Given the description of an element on the screen output the (x, y) to click on. 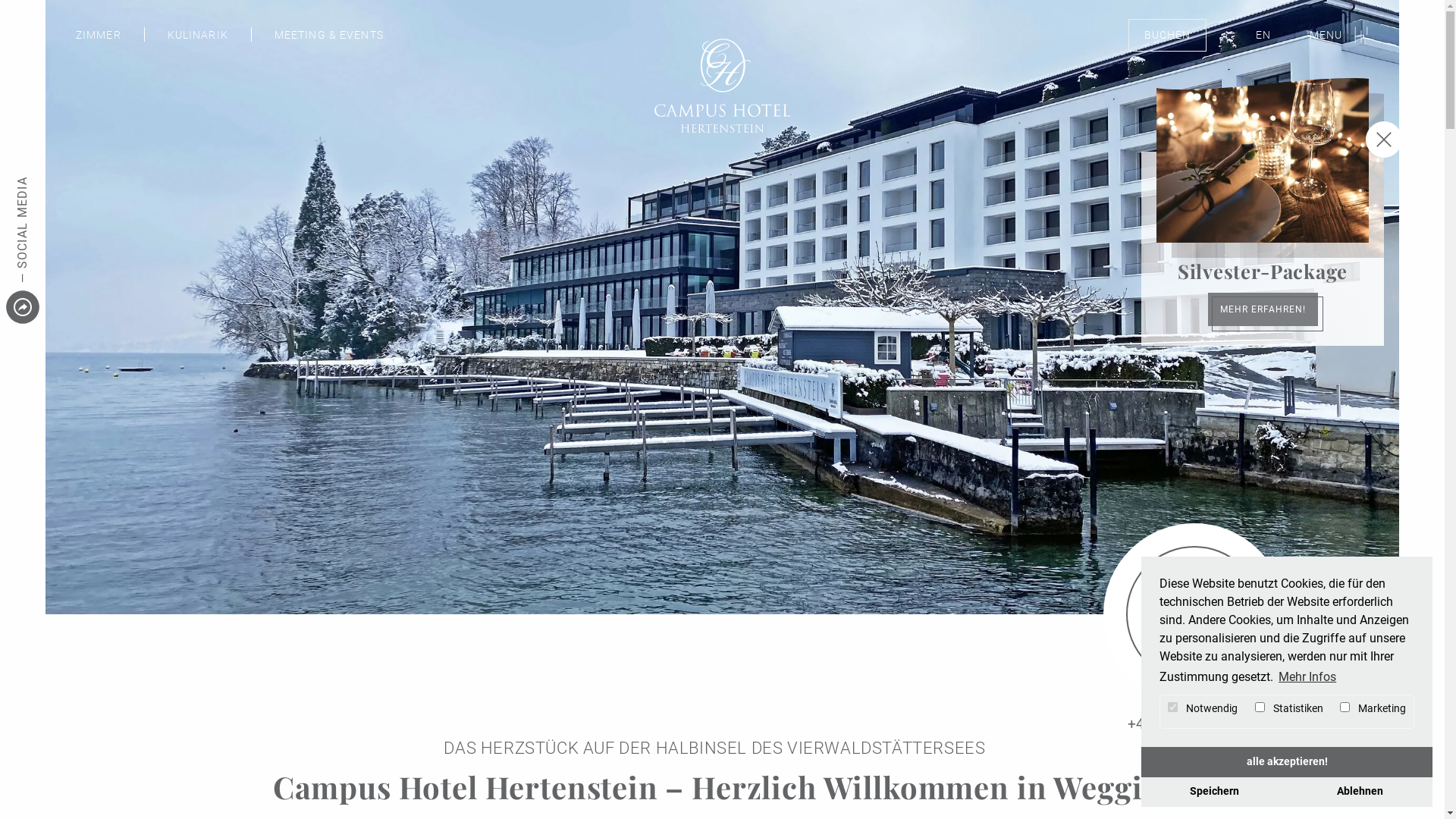
ZIMMER Element type: text (98, 34)
MEHR ERFAHREN! Element type: text (1262, 309)
BUCHEN Element type: text (1167, 34)
Mehr Infos Element type: text (1307, 676)
Speichern Element type: text (1213, 791)
KULINARIK Element type: text (197, 34)
MENU Element type: text (1338, 34)
alle akzeptieren! Element type: text (1286, 761)
MEETING & EVENTS Element type: text (328, 34)
+41 (0)41 399 71 71 Element type: text (1193, 723)
BUCHEN Element type: text (1194, 614)
EN Element type: text (1262, 34)
info@c-h-h.ch Element type: text (1194, 746)
Ablehnen Element type: text (1359, 791)
